Given the description of an element on the screen output the (x, y) to click on. 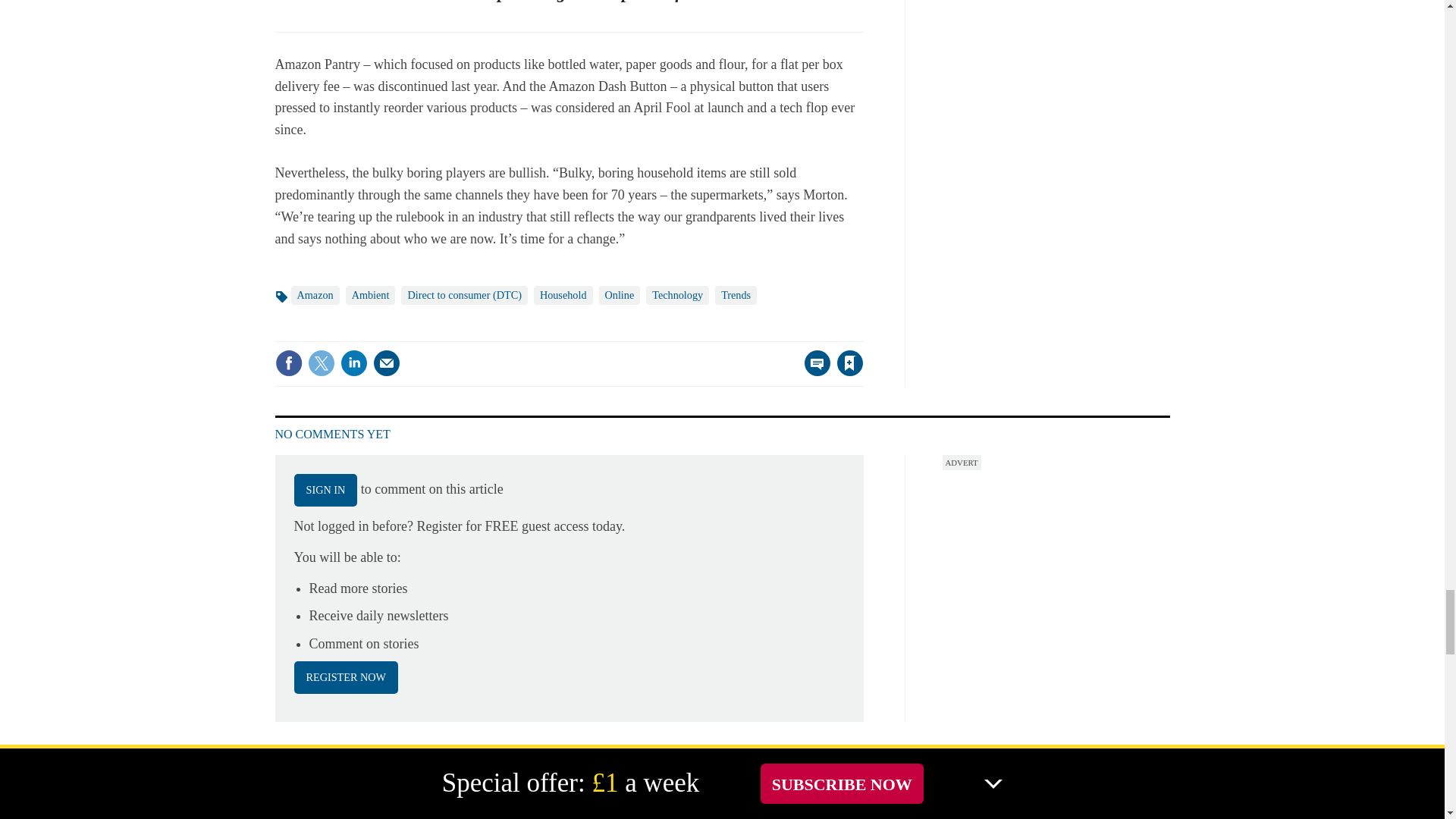
Share this on Linked in (352, 362)
Share this on Facebook (288, 362)
Share this on Twitter (320, 362)
No comments (812, 372)
Email this article (386, 362)
